Given the description of an element on the screen output the (x, y) to click on. 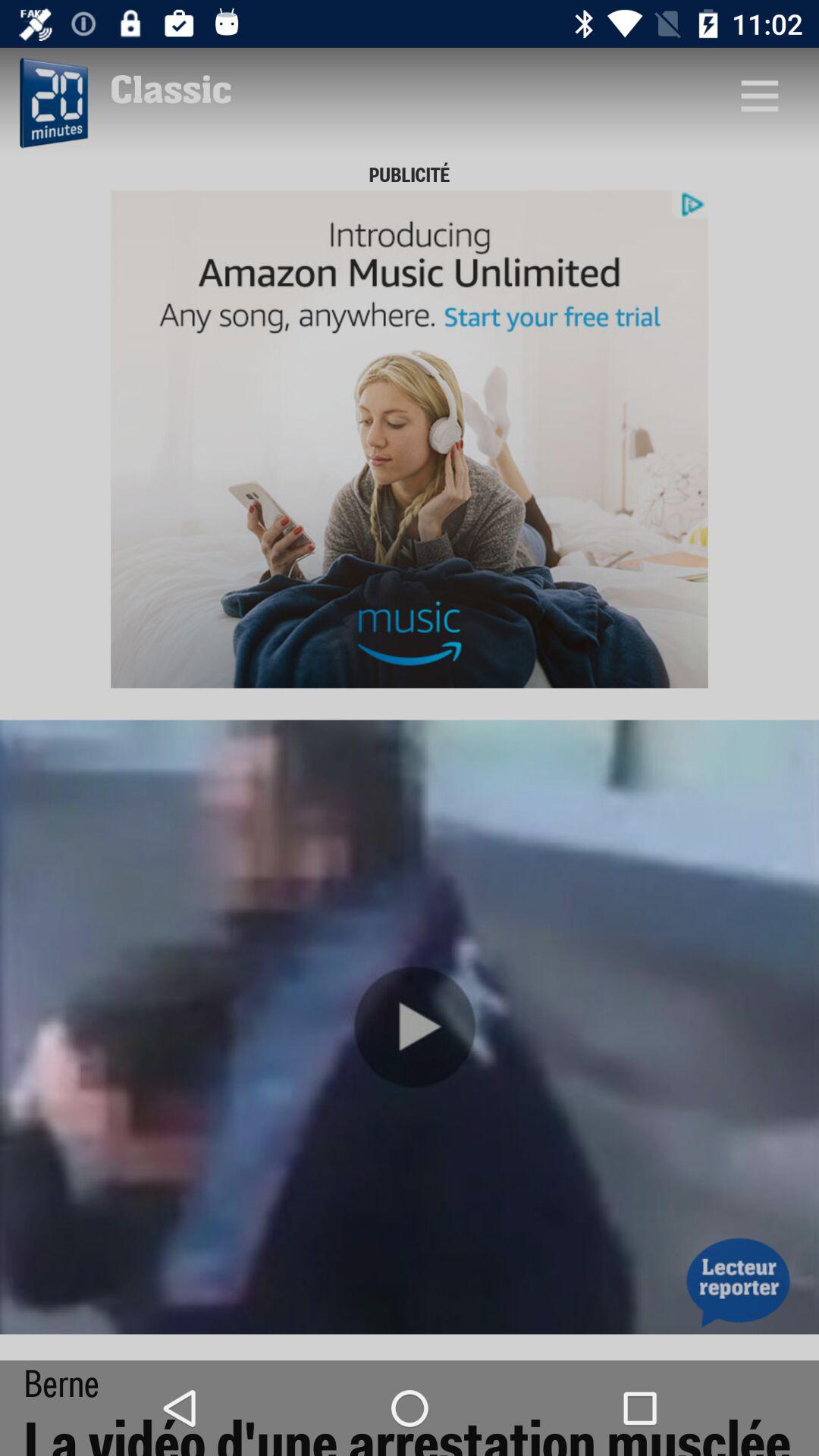
g ot to view option (759, 95)
